Given the description of an element on the screen output the (x, y) to click on. 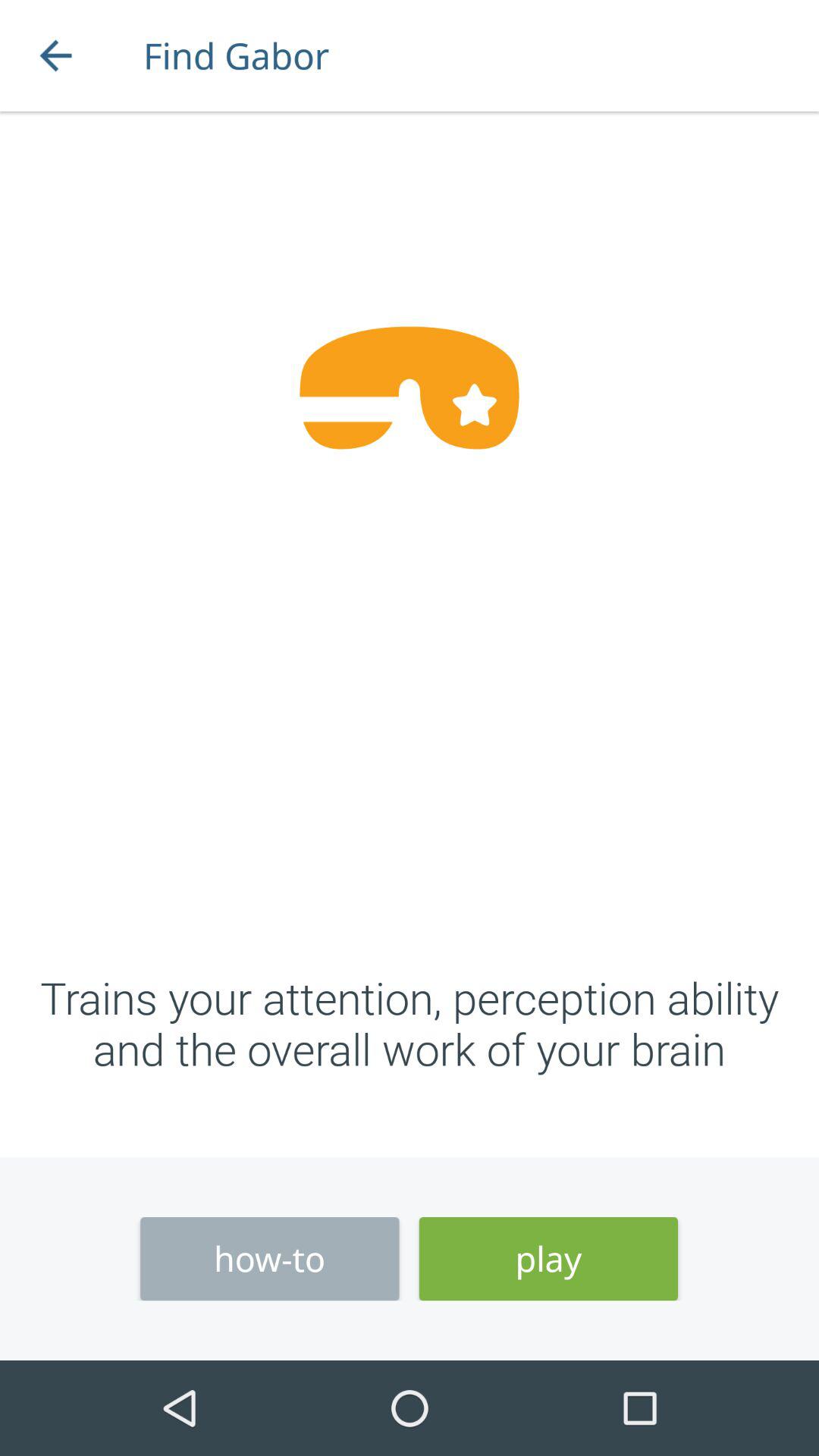
choose the icon to the left of find gabor (55, 55)
